Given the description of an element on the screen output the (x, y) to click on. 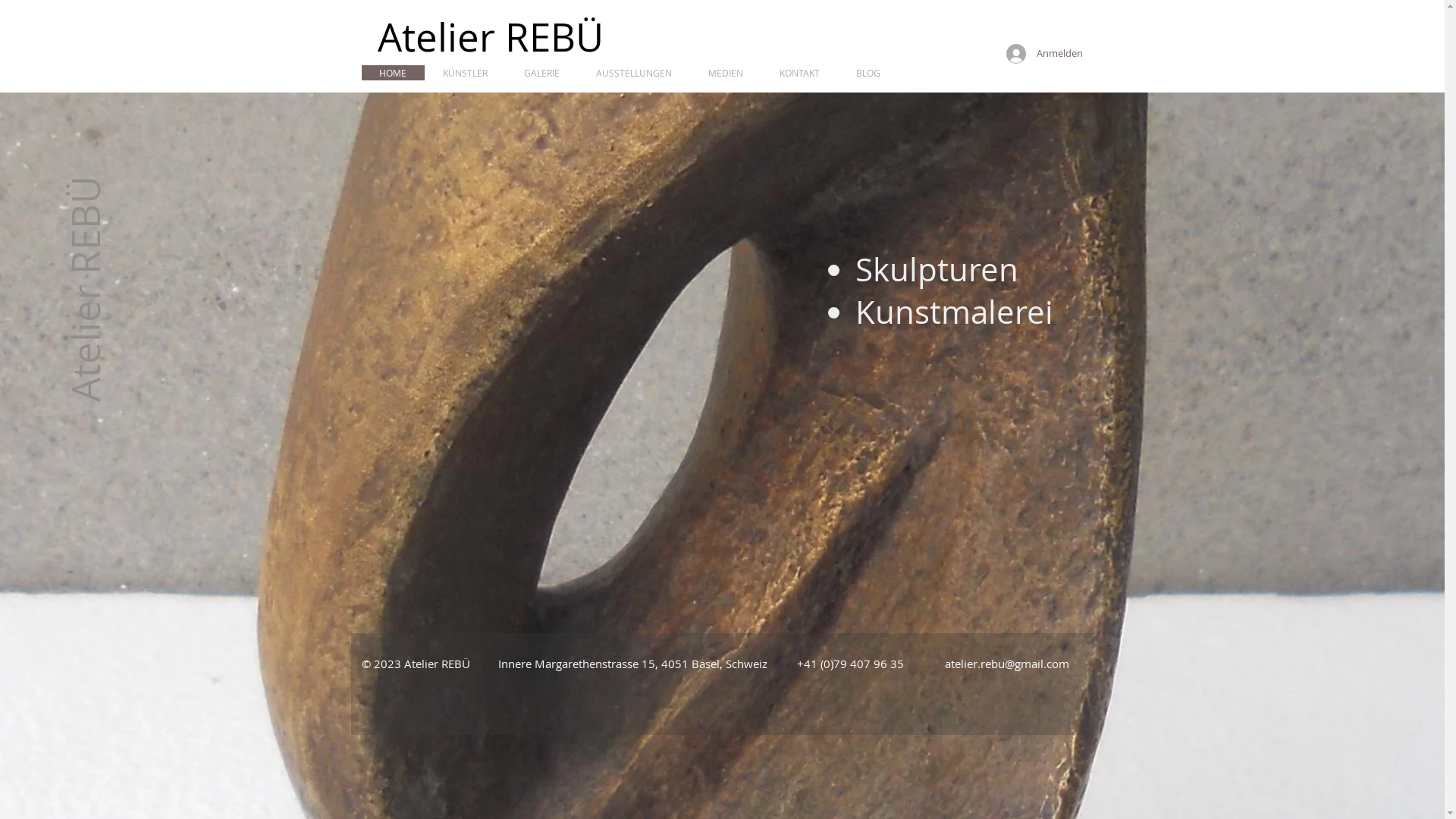
KONTAKT Element type: text (716, 73)
KONTAKT Element type: text (799, 72)
BLOG Element type: text (867, 72)
HOME Element type: text (391, 72)
GALERIE Element type: text (508, 73)
Anmelden Element type: text (1039, 53)
HOME Element type: text (393, 73)
AUSSTELLUNGEN Element type: text (584, 73)
atelier.rebu@gmail.com Element type: text (1006, 663)
MEDIEN Element type: text (659, 73)
AUSSTELLUNGEN Element type: text (633, 72)
MEDIEN Element type: text (725, 72)
GALERIE Element type: text (541, 72)
BLOG Element type: text (768, 73)
